Given the description of an element on the screen output the (x, y) to click on. 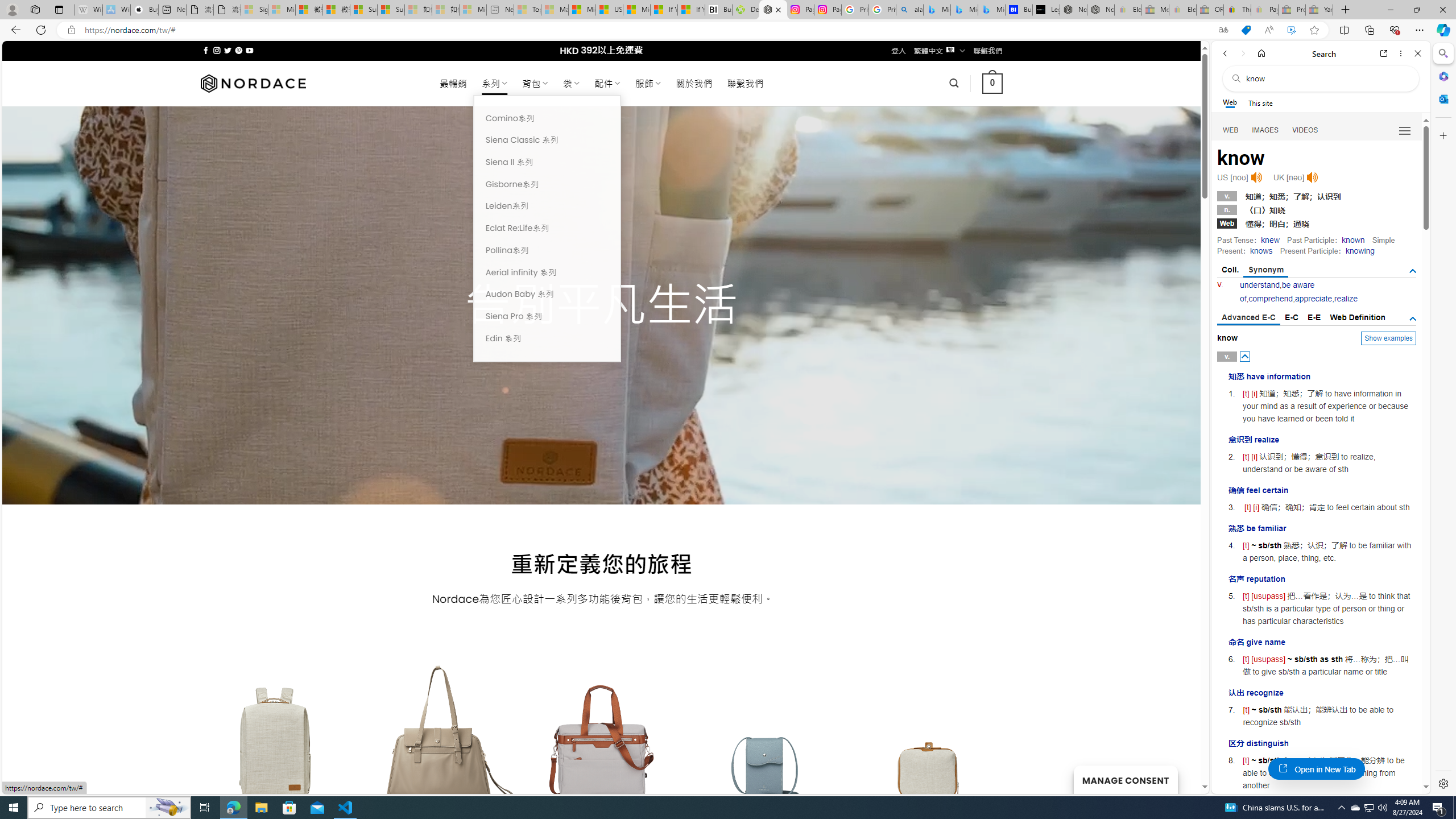
Follow on Pinterest (237, 50)
MANAGE CONSENT (1125, 779)
AutomationID: posbtn_0 (1245, 356)
Payments Terms of Use | eBay.com - Sleeping (1264, 9)
Yard, Garden & Outdoor Living - Sleeping (1319, 9)
